Given the description of an element on the screen output the (x, y) to click on. 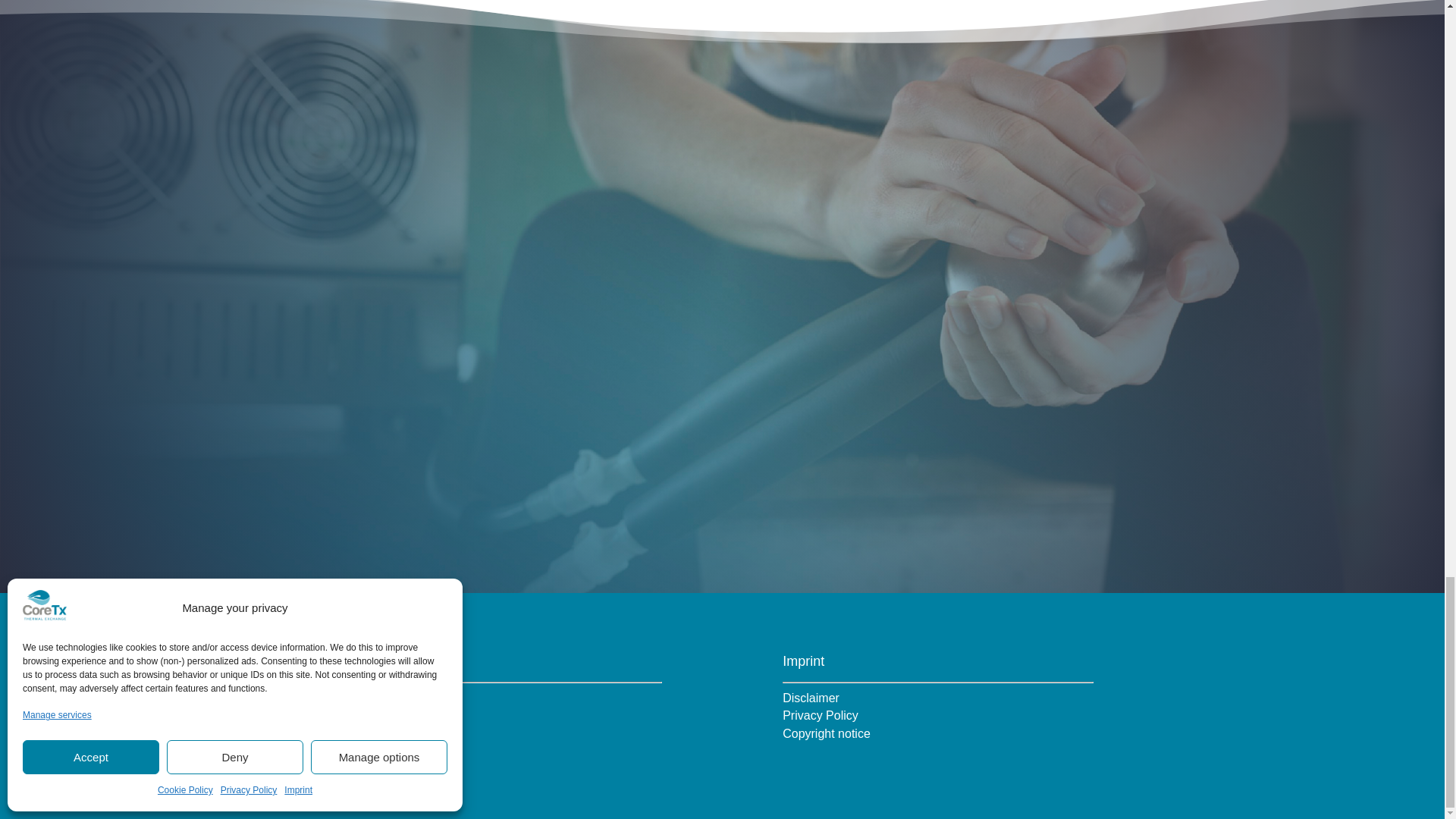
Copyright notice (826, 733)
About (365, 697)
Privacy Policy (821, 715)
Disclaimer (811, 697)
Contact (370, 715)
